Given the description of an element on the screen output the (x, y) to click on. 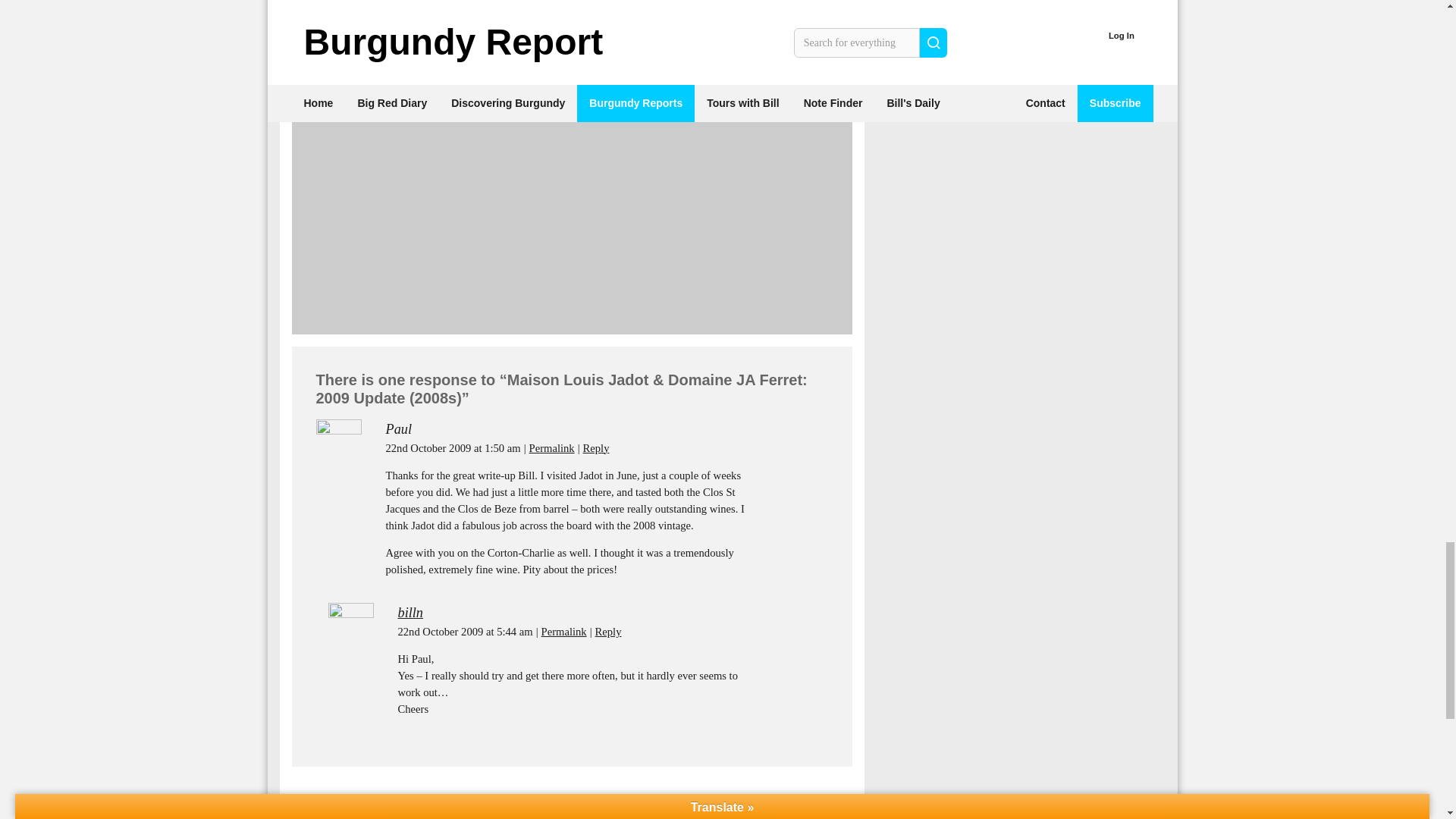
Reply (596, 447)
Permalink (552, 447)
Reply (608, 631)
billn (410, 612)
Permalink (563, 631)
